Given the description of an element on the screen output the (x, y) to click on. 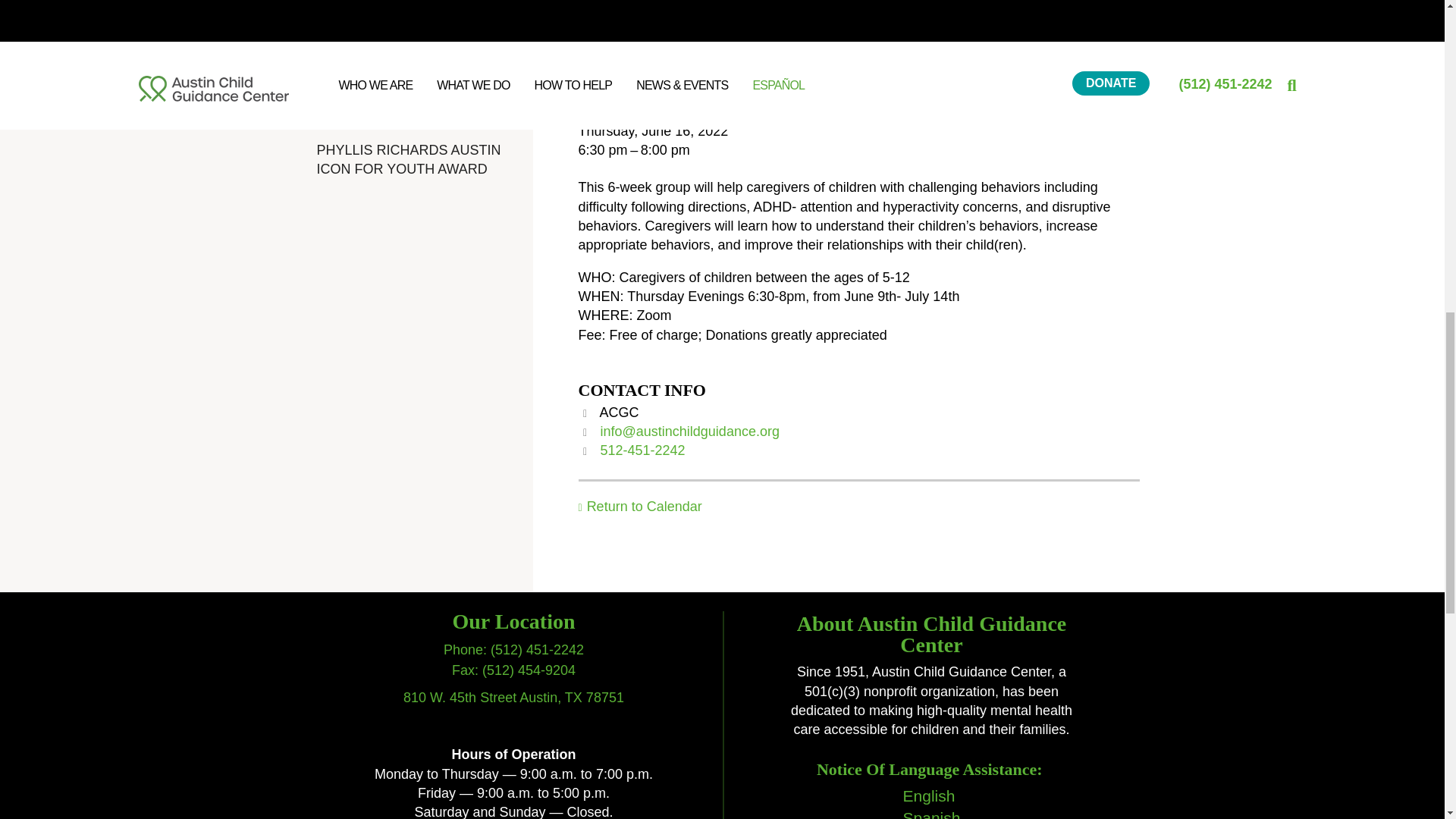
ACGC (706, 412)
